Given the description of an element on the screen output the (x, y) to click on. 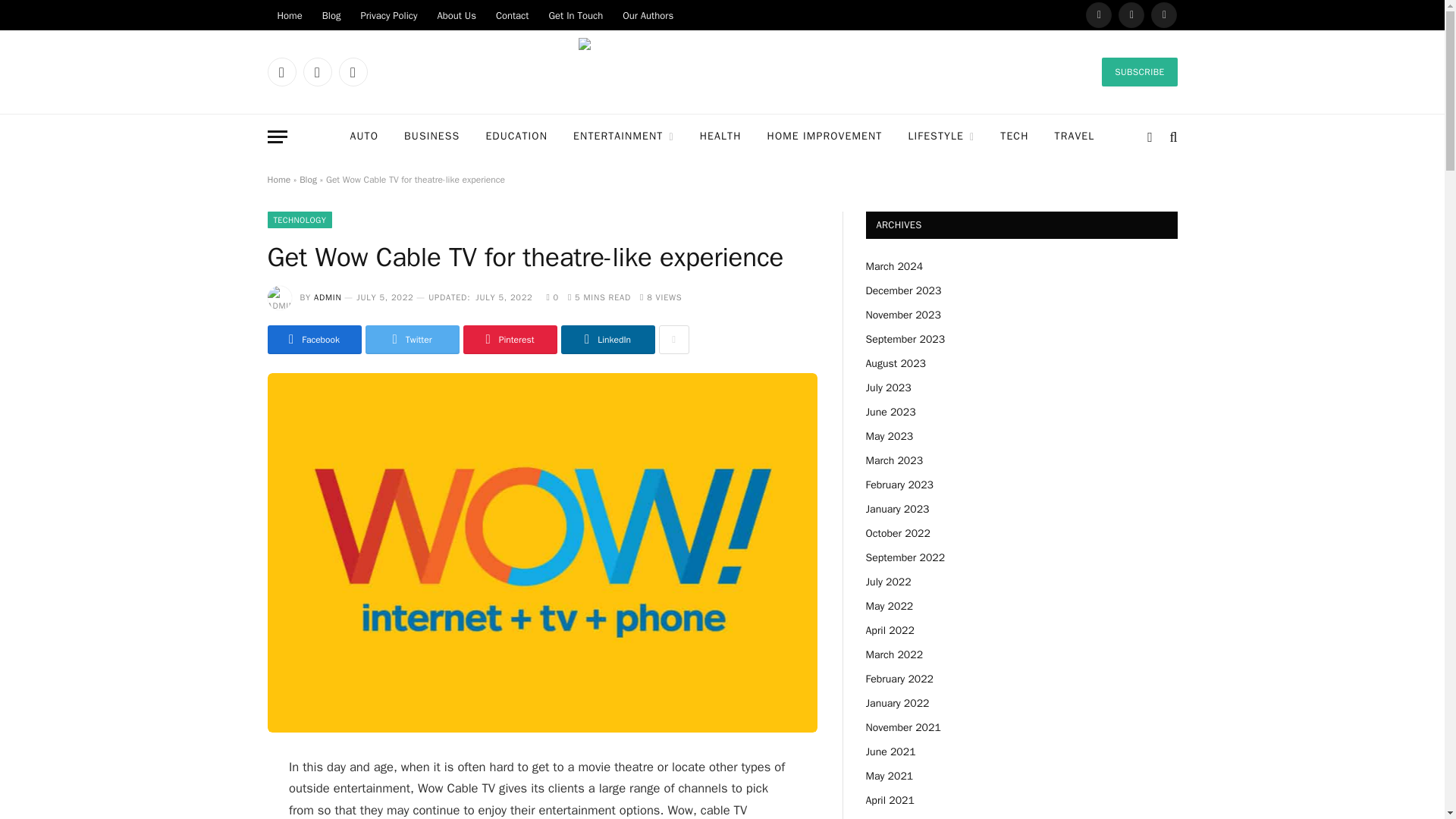
Our Authors (647, 15)
Contact (512, 15)
Posts by admin (327, 296)
Privacy Policy (388, 15)
8 Article Views (660, 296)
Blog (331, 15)
Facebook (280, 71)
Instagram (1163, 14)
Get In Touch (575, 15)
About Us (455, 15)
